Given the description of an element on the screen output the (x, y) to click on. 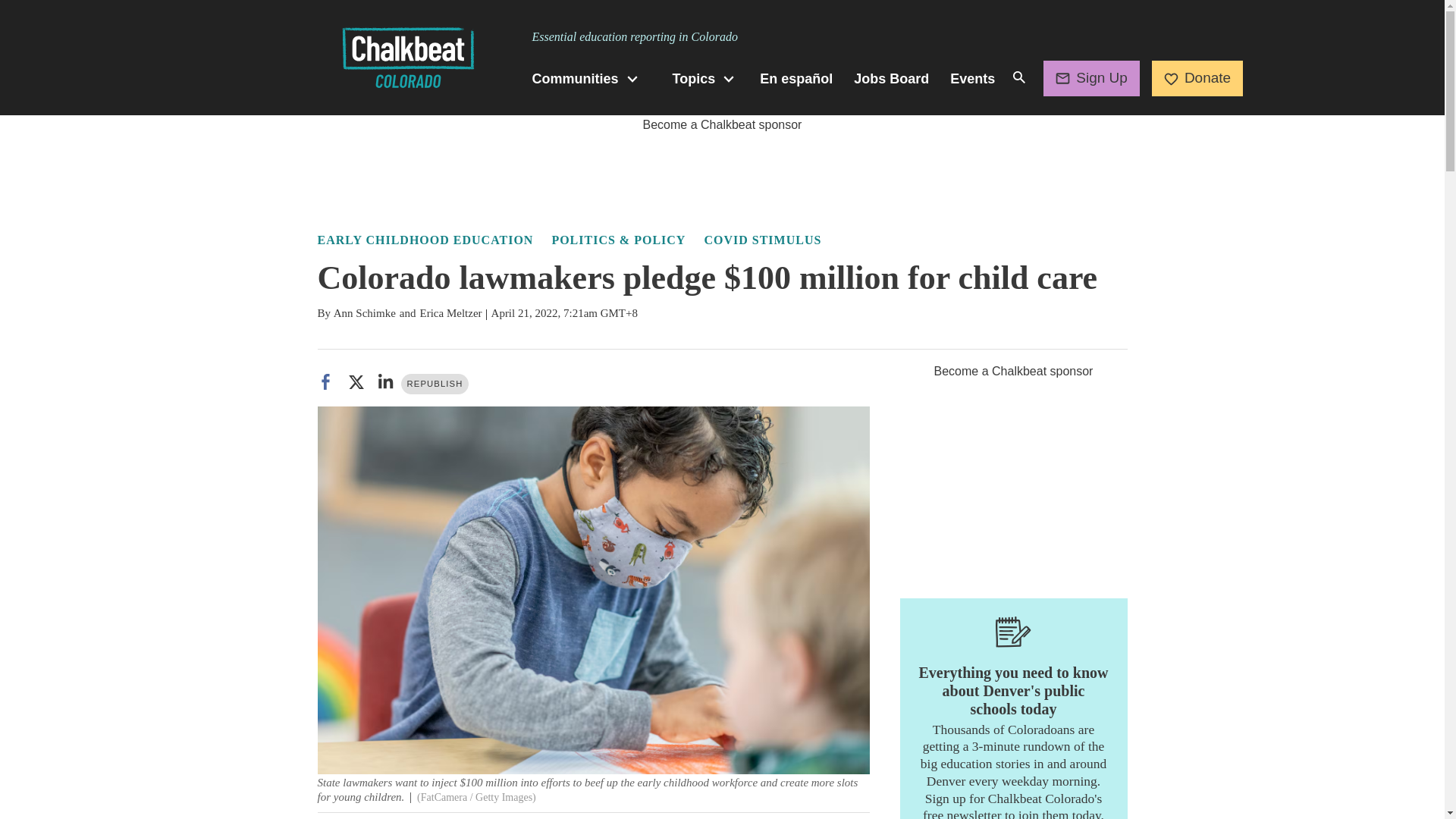
3rd party ad content (1012, 475)
Become a Chalkbeat sponsor (722, 124)
Jobs Board (890, 79)
3rd party ad content (721, 169)
Sign Up (1091, 77)
Donate (1197, 77)
Events (972, 79)
